Given the description of an element on the screen output the (x, y) to click on. 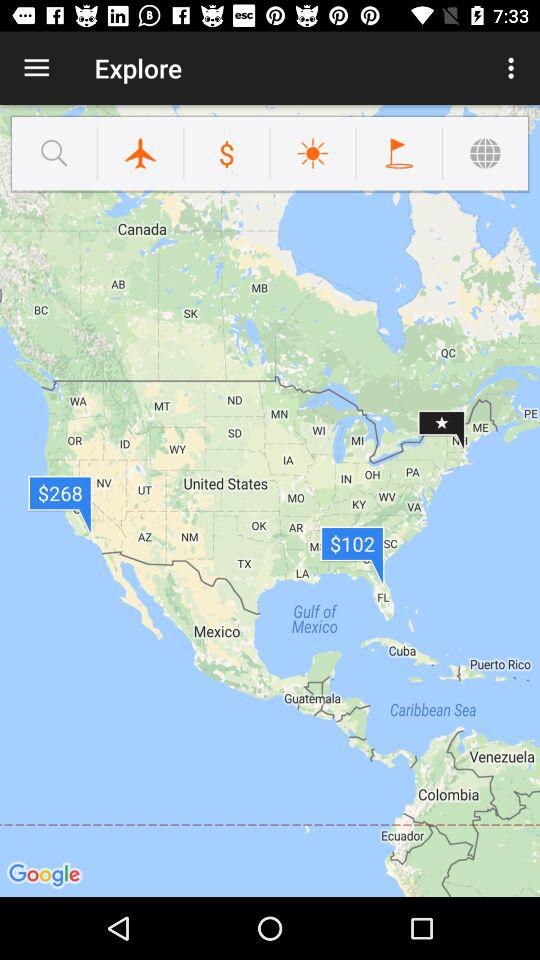
press icon at the center (270, 500)
